Given the description of an element on the screen output the (x, y) to click on. 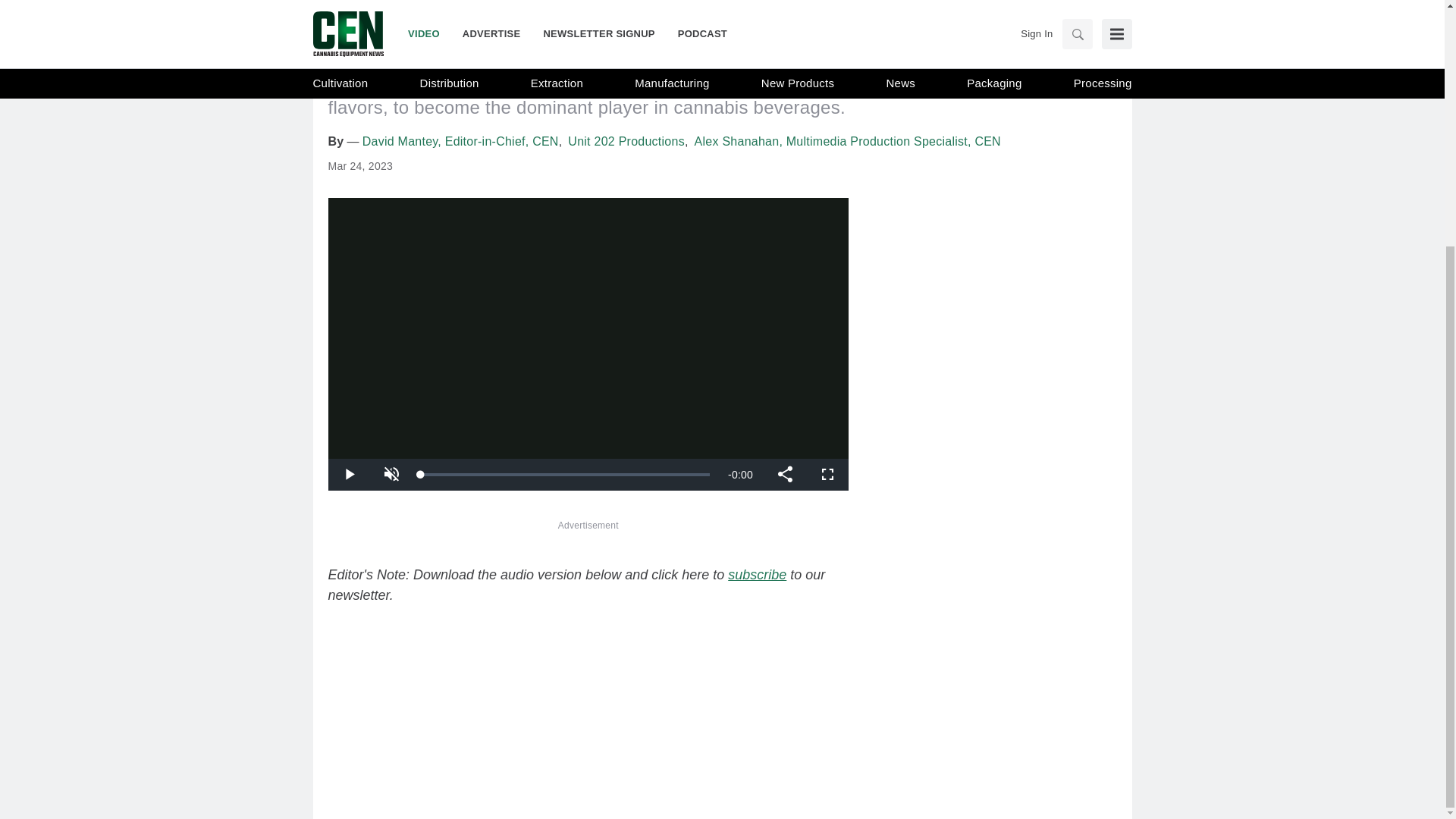
Video (349, 5)
Share (784, 474)
Unmute (390, 474)
Play (348, 474)
